Given the description of an element on the screen output the (x, y) to click on. 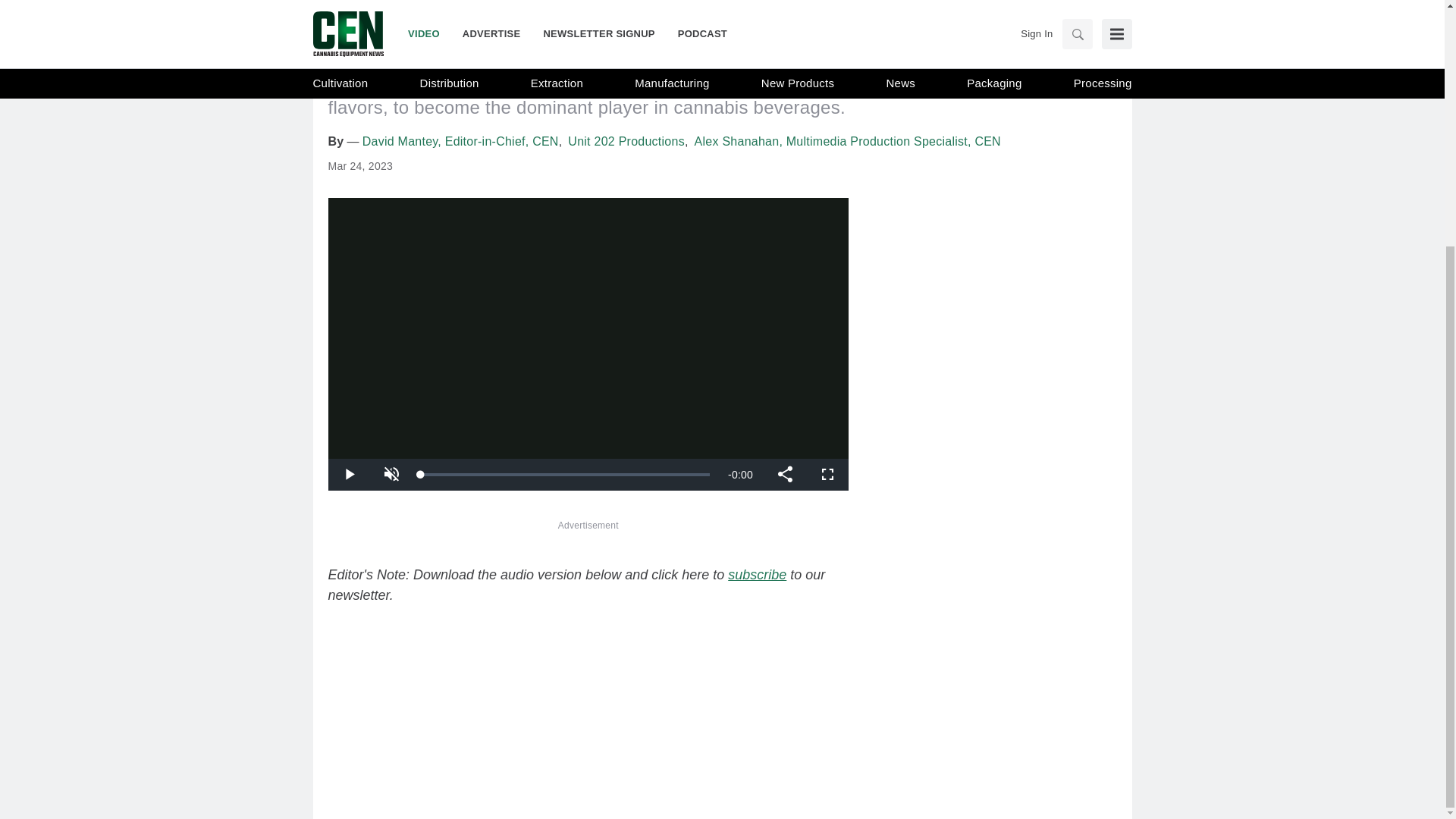
Video (349, 5)
Share (784, 474)
Unmute (390, 474)
Play (348, 474)
